Given the description of an element on the screen output the (x, y) to click on. 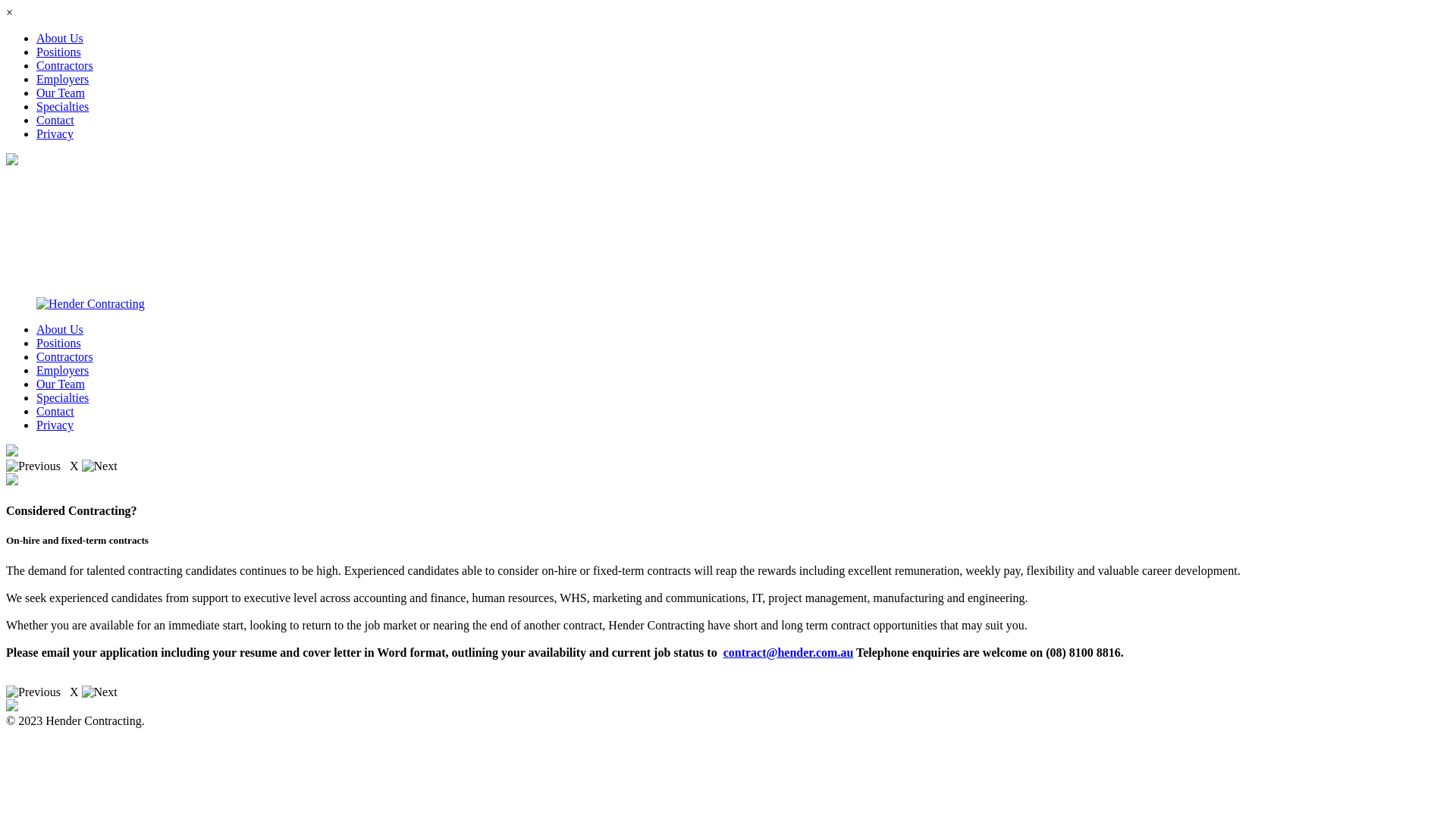
Contractors Element type: text (64, 356)
Specialties Element type: text (62, 397)
Contractors Element type: text (64, 65)
Our Team Element type: text (60, 383)
Positions Element type: text (58, 342)
Employers Element type: text (62, 370)
Employers Element type: text (62, 78)
Contact Element type: text (55, 410)
Positions Element type: text (58, 51)
Contact Element type: text (55, 119)
Specialties Element type: text (62, 106)
Our Team Element type: text (60, 92)
contract@hender.com.au Element type: text (788, 652)
About Us Element type: text (59, 329)
Privacy Element type: text (54, 424)
About Us Element type: text (59, 37)
Privacy Element type: text (54, 133)
